Given the description of an element on the screen output the (x, y) to click on. 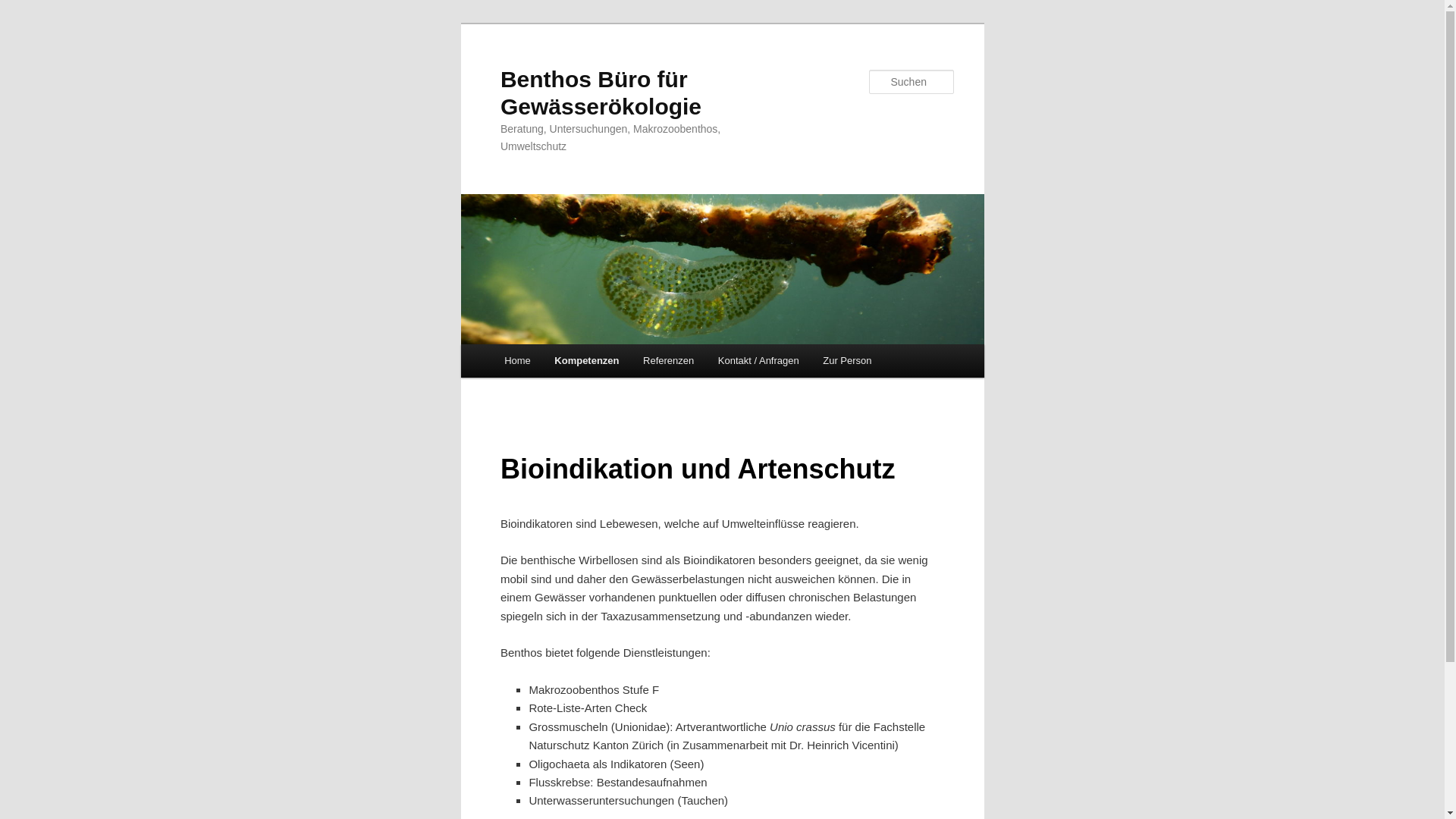
Zur Person Element type: text (846, 360)
Kompetenzen Element type: text (586, 360)
Referenzen Element type: text (668, 360)
Zum Inhalt wechseln Element type: text (22, 22)
Kontakt / Anfragen Element type: text (758, 360)
Home Element type: text (517, 360)
Suchen Element type: text (25, 8)
